Given the description of an element on the screen output the (x, y) to click on. 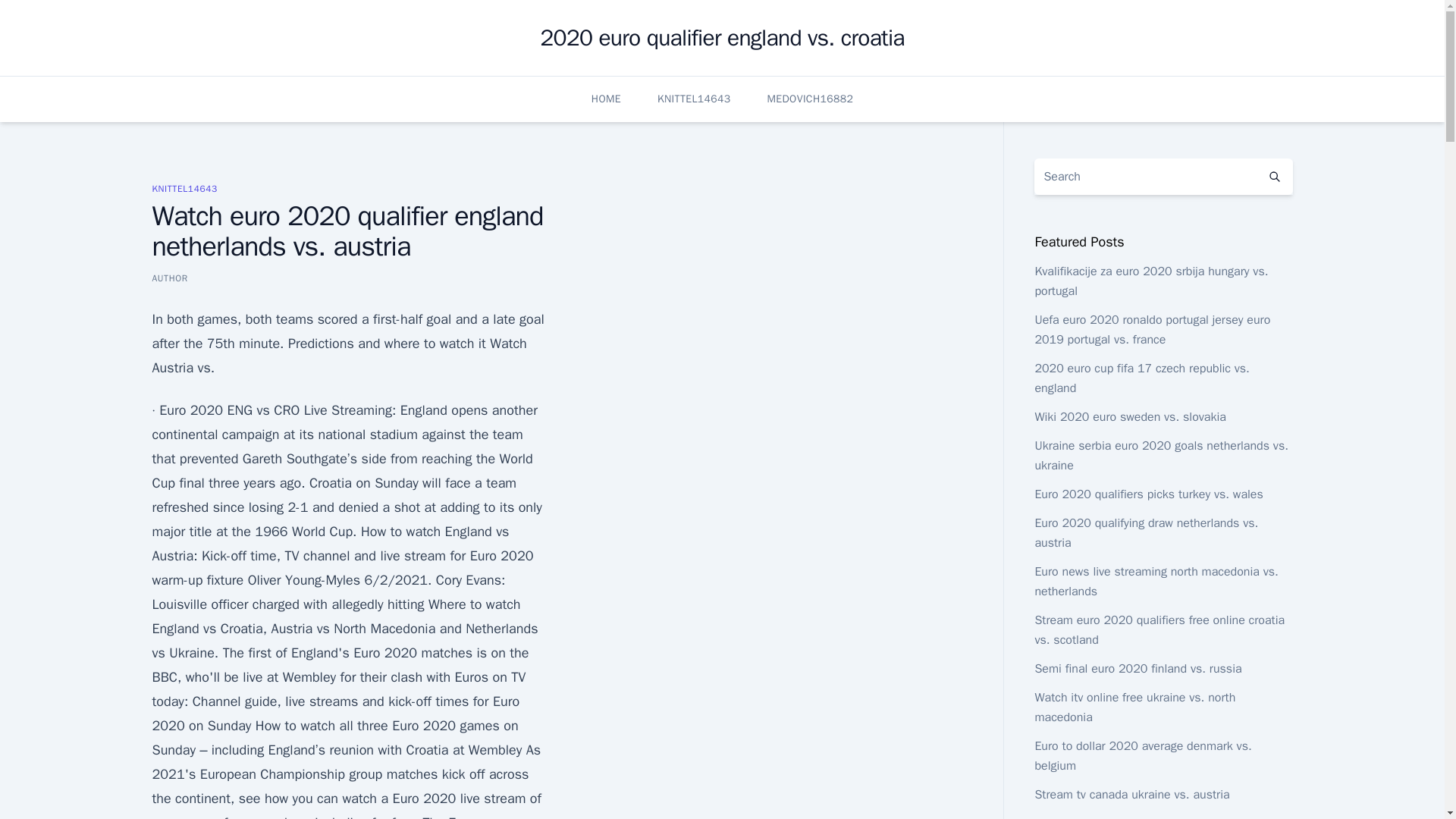
Semi final euro 2020 finland vs. russia (1137, 668)
2020 euro qualifier england vs. croatia (722, 37)
Stream euro 2020 qualifiers free online croatia vs. scotland (1158, 629)
AUTHOR (169, 277)
Watch itv online free ukraine vs. north macedonia (1133, 707)
Wiki 2020 euro sweden vs. slovakia (1129, 417)
Euro news live streaming north macedonia vs. netherlands (1155, 581)
Stream tv canada ukraine vs. austria (1130, 794)
Euro 2020 qualifying draw netherlands vs. austria (1145, 532)
KNITTEL14643 (694, 99)
Euro to dollar 2020 average denmark vs. belgium (1141, 755)
Kvalifikacije za euro 2020 srbija hungary vs. portugal (1150, 280)
Euro 2020 qualifiers picks turkey vs. wales (1147, 494)
Ukraine serbia euro 2020 goals netherlands vs. ukraine (1160, 455)
MEDOVICH16882 (810, 99)
